Given the description of an element on the screen output the (x, y) to click on. 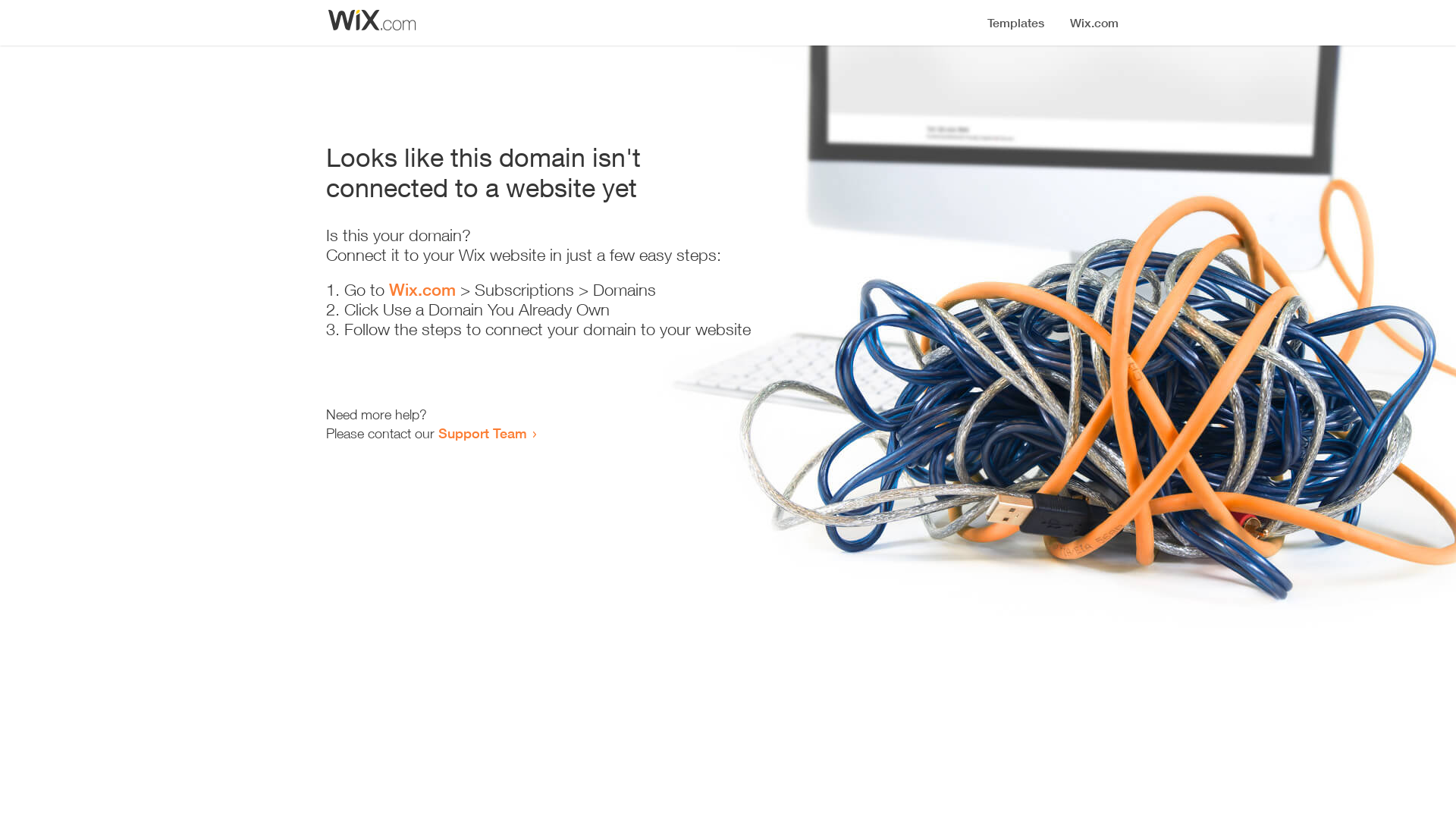
Wix.com Element type: text (422, 289)
Support Team Element type: text (482, 432)
